Given the description of an element on the screen output the (x, y) to click on. 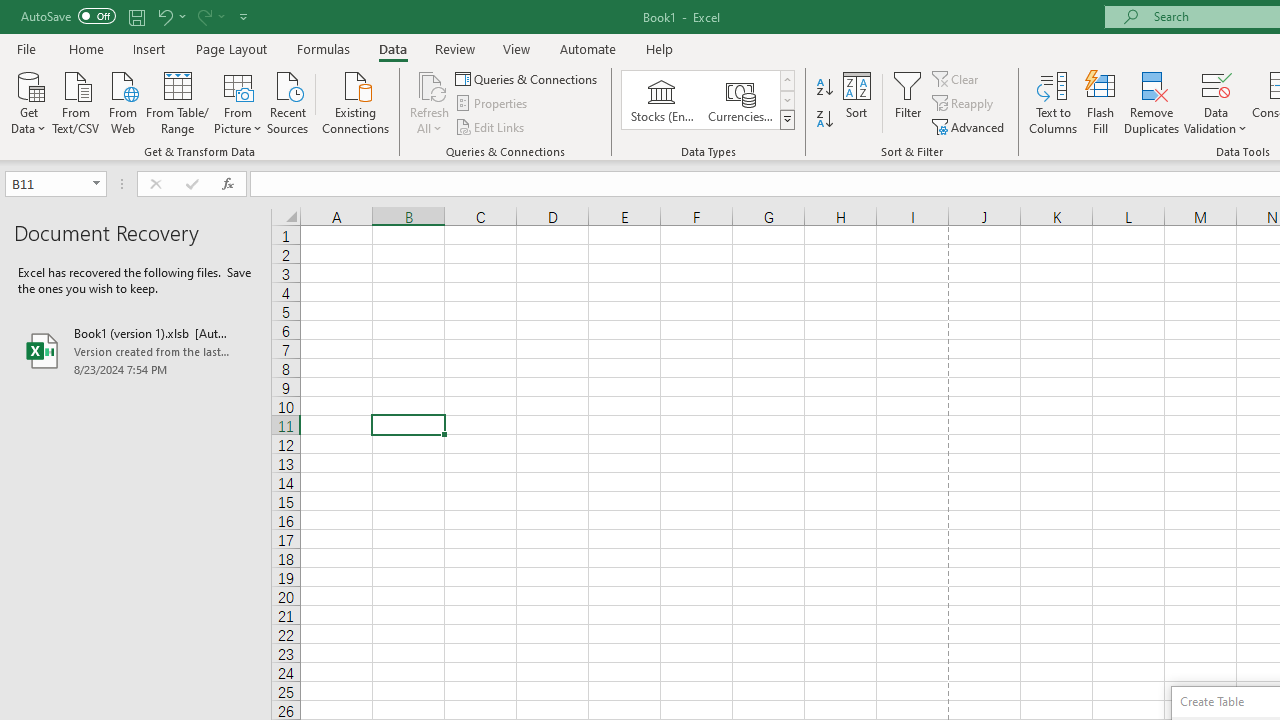
Row up (786, 79)
Clear (957, 78)
Get Data (28, 101)
Properties (492, 103)
Book1 (version 1).xlsb  [AutoRecovered] (136, 350)
Row Down (786, 100)
Data Types (786, 120)
Recent Sources (287, 101)
Filter (908, 102)
